Given the description of an element on the screen output the (x, y) to click on. 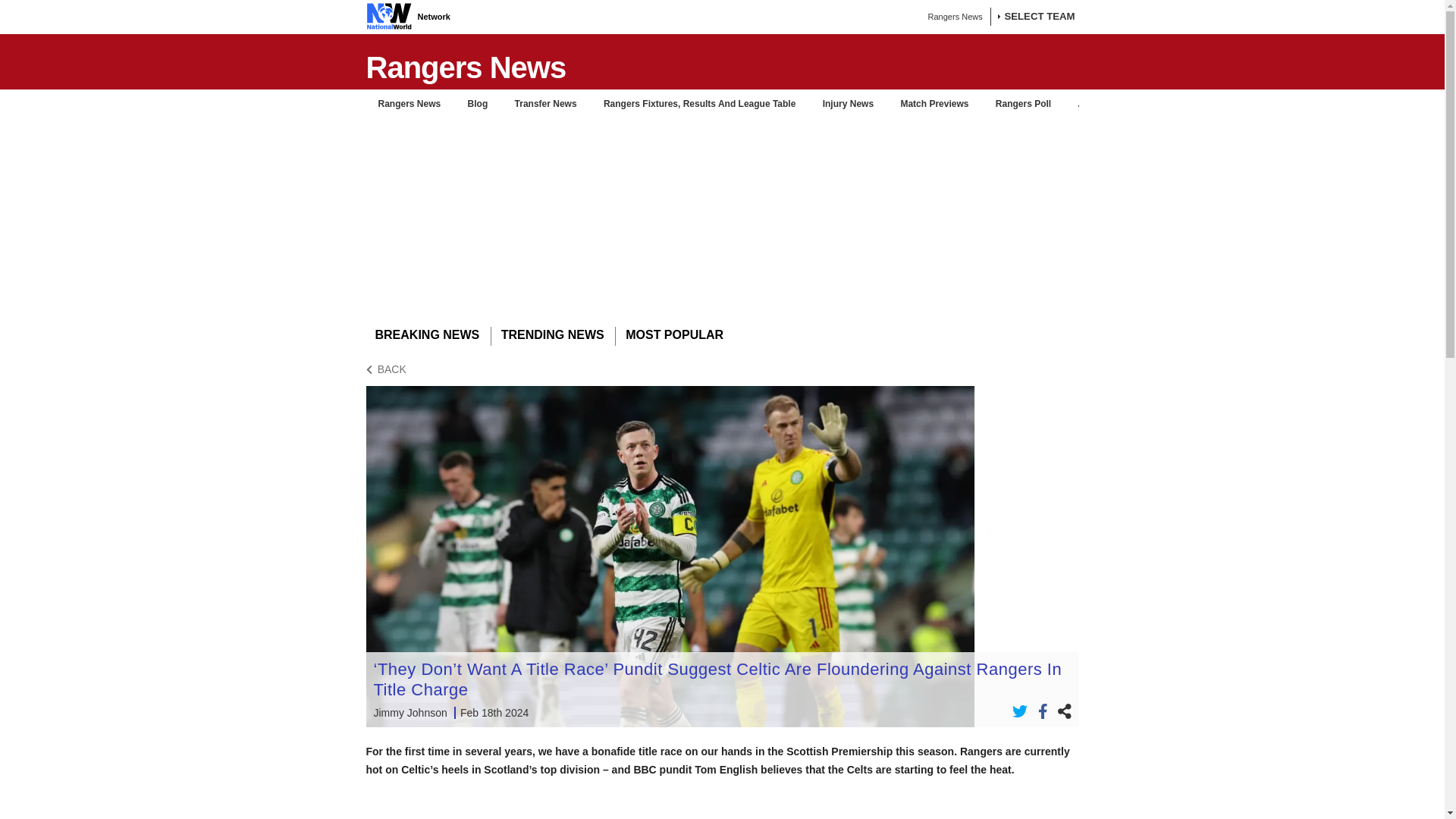
TRENDING NEWS (552, 334)
Injury News (847, 103)
Rangers Fixtures, Results And League Table (699, 103)
Rangers Poll (1023, 103)
BREAKING NEWS TRENDING NEWS MOST POPULAR (721, 337)
Match Previews (933, 103)
Rangers News (408, 103)
BACK (721, 369)
BREAKING NEWS (426, 334)
